Given the description of an element on the screen output the (x, y) to click on. 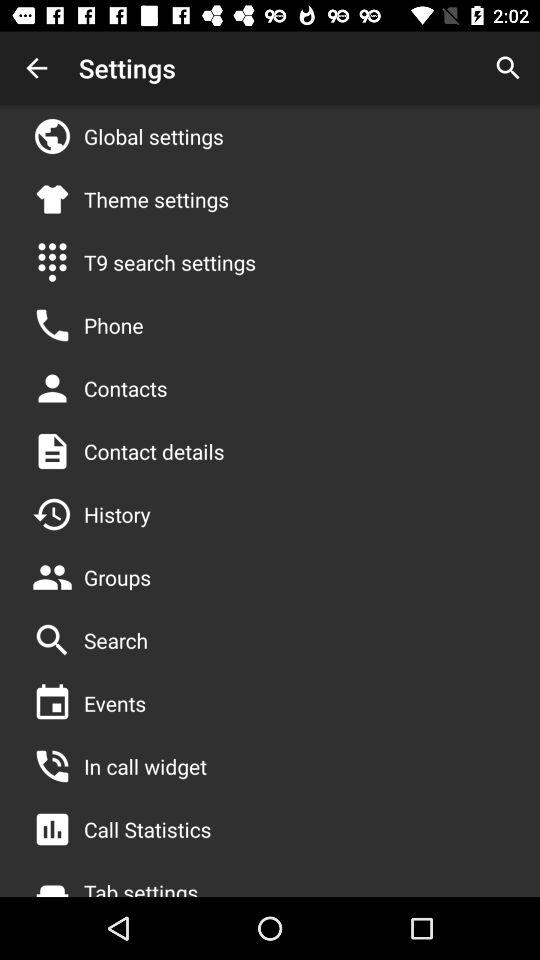
choose the contact details item (154, 451)
